Given the description of an element on the screen output the (x, y) to click on. 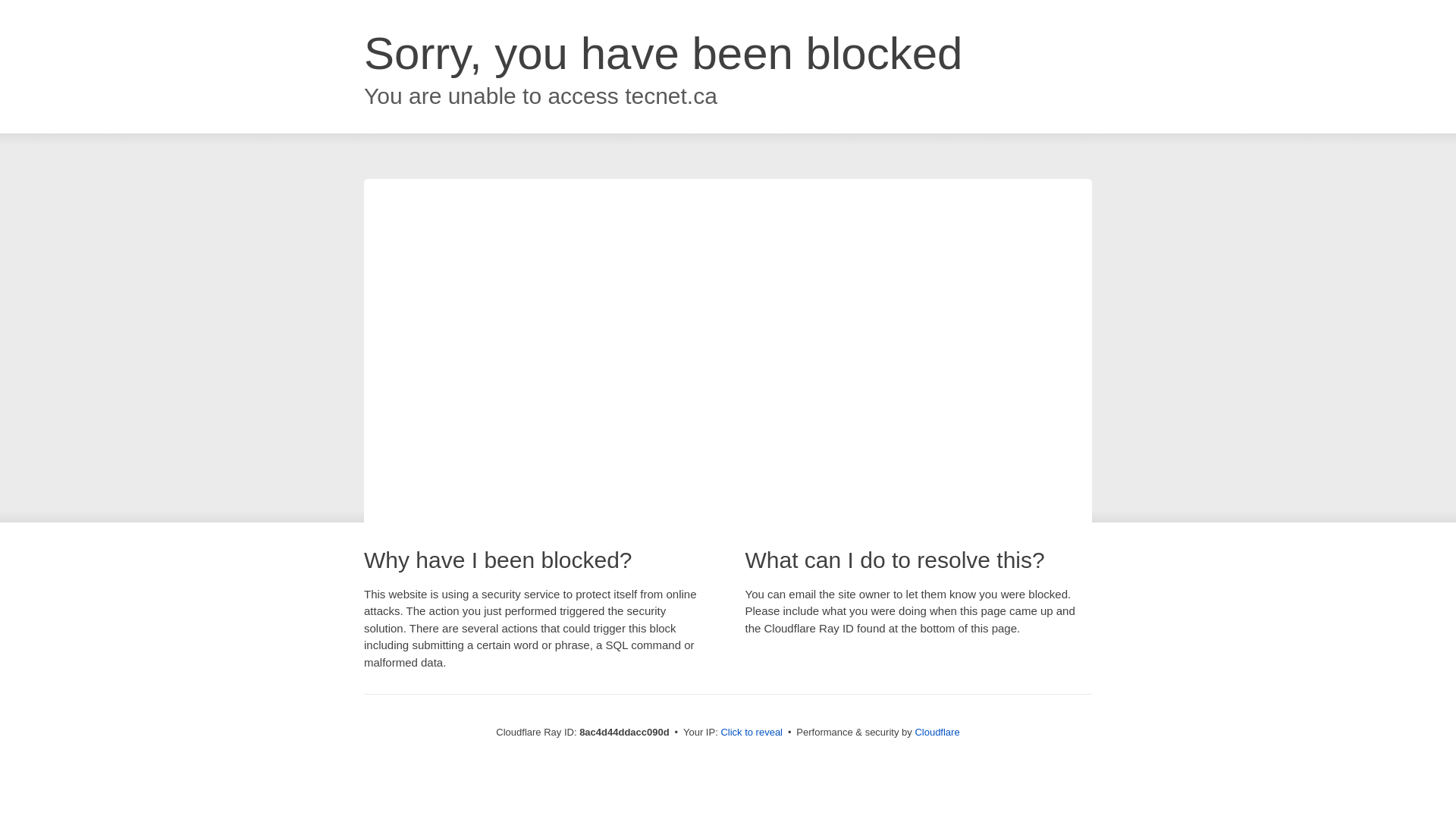
Click to reveal (751, 732)
Cloudflare (936, 731)
